Given the description of an element on the screen output the (x, y) to click on. 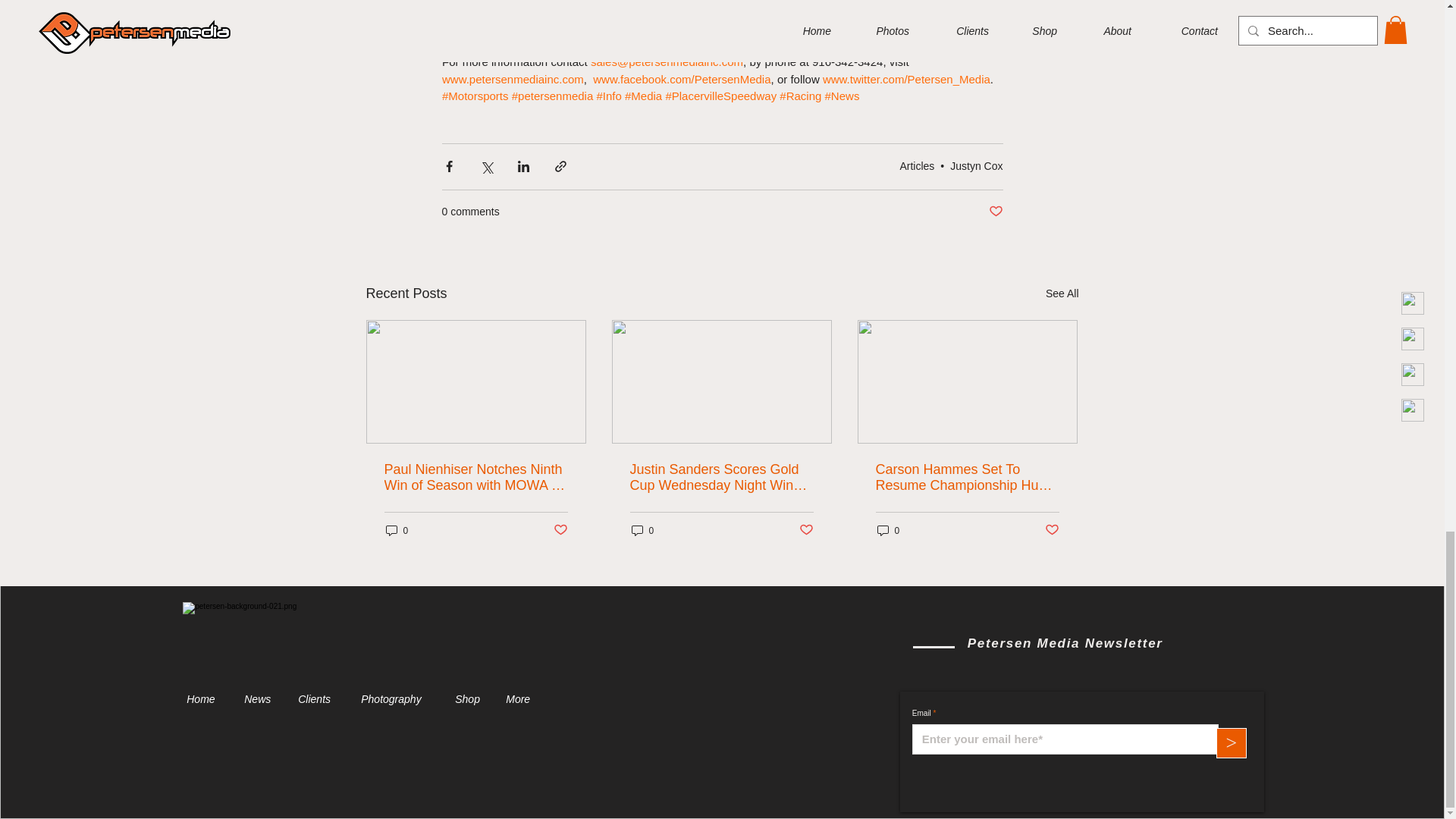
Post not marked as liked (995, 211)
0 (396, 530)
Articles (916, 165)
Justyn Cox (976, 165)
See All (1061, 293)
Post not marked as liked (560, 530)
www.petersenmediainc.com (512, 78)
